Given the description of an element on the screen output the (x, y) to click on. 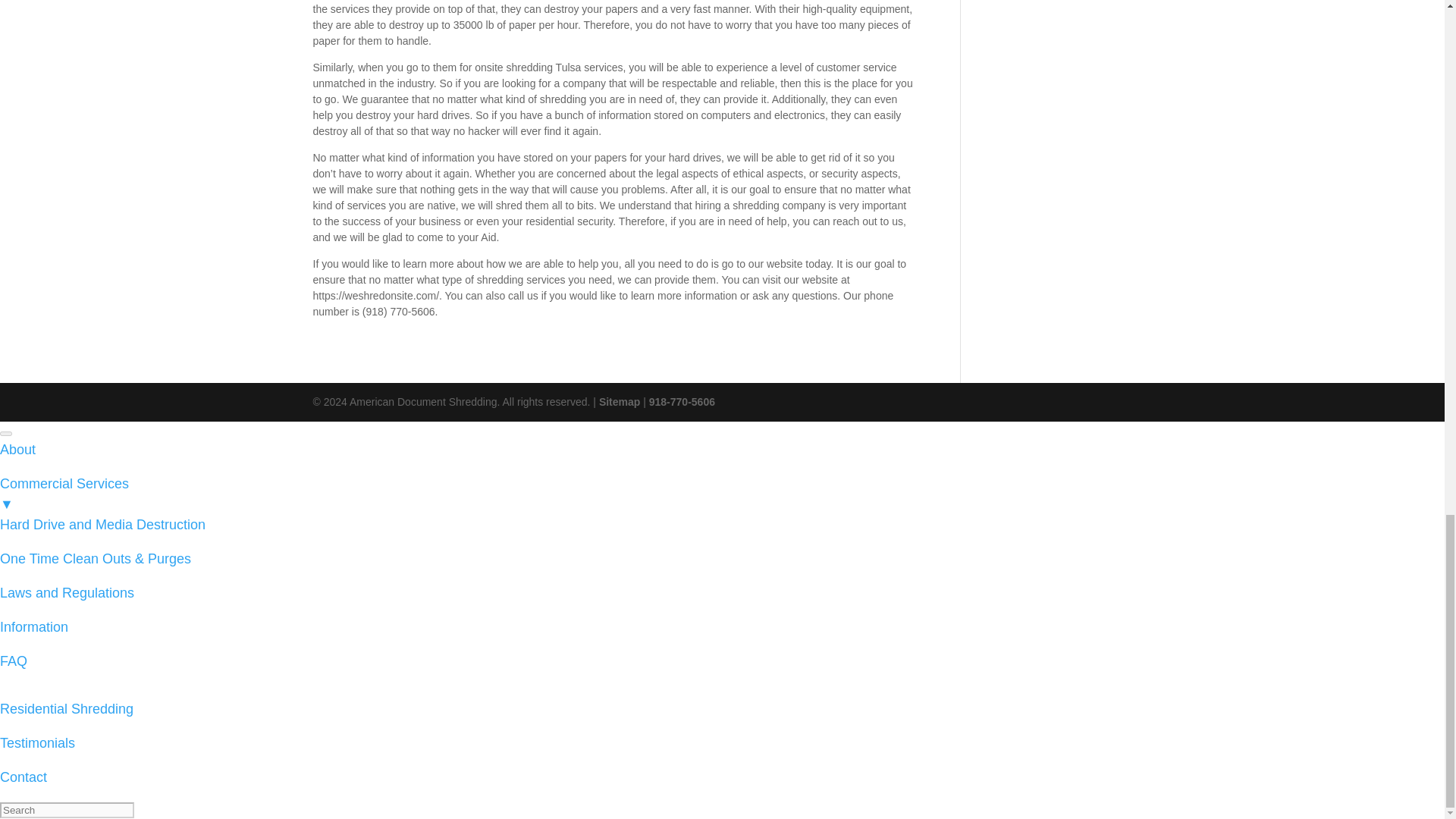
About (17, 449)
Residential Shredding (66, 708)
Laws and Regulations (66, 592)
Testimonials (37, 743)
Search (66, 810)
Sitemap (619, 401)
918-770-5606 (681, 401)
Hard Drive and Media Destruction (102, 524)
Information (34, 626)
FAQ (13, 661)
